Given the description of an element on the screen output the (x, y) to click on. 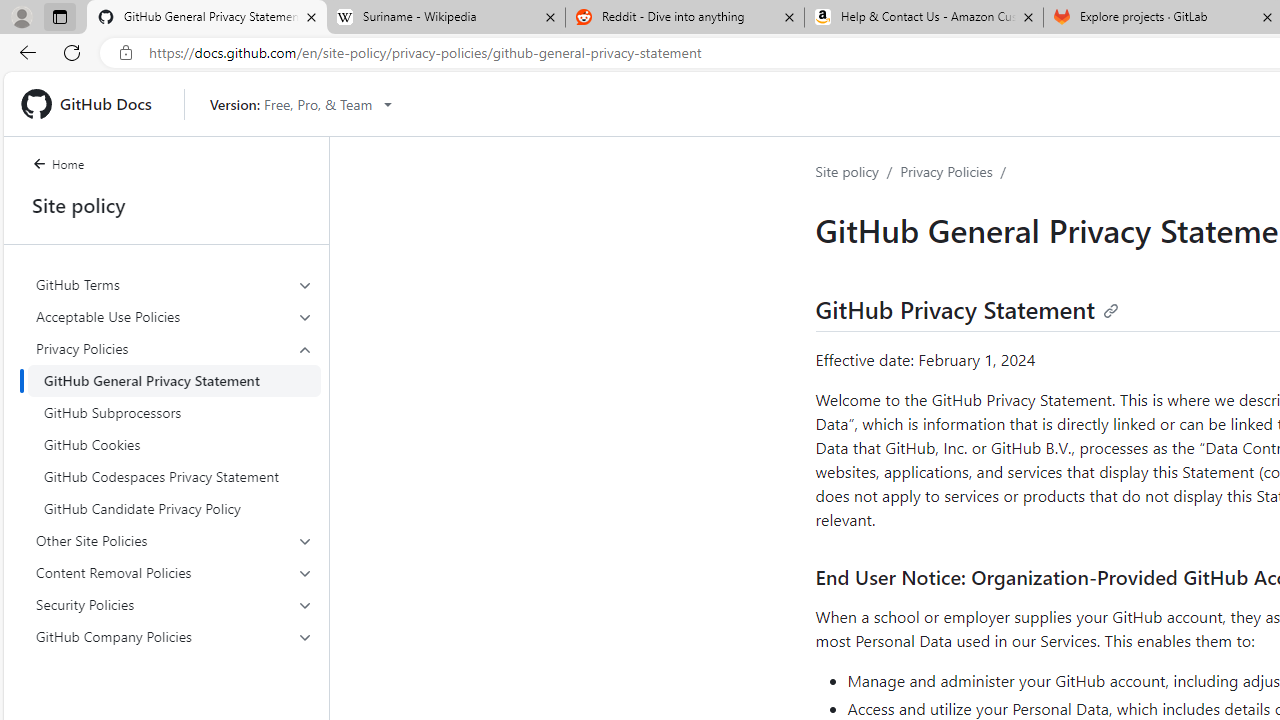
Security Policies (174, 604)
GitHub Candidate Privacy Policy (174, 508)
Acceptable Use Policies (174, 316)
GitHub General Privacy Statement - GitHub Docs (207, 17)
GitHub Company Policies (174, 636)
Other Site Policies (174, 540)
GitHub Docs (93, 103)
Suriname - Wikipedia (445, 17)
Content Removal Policies (174, 572)
GitHub Subprocessors (174, 412)
GitHub Cookies (174, 444)
Privacy Policies/ (957, 171)
